Given the description of an element on the screen output the (x, y) to click on. 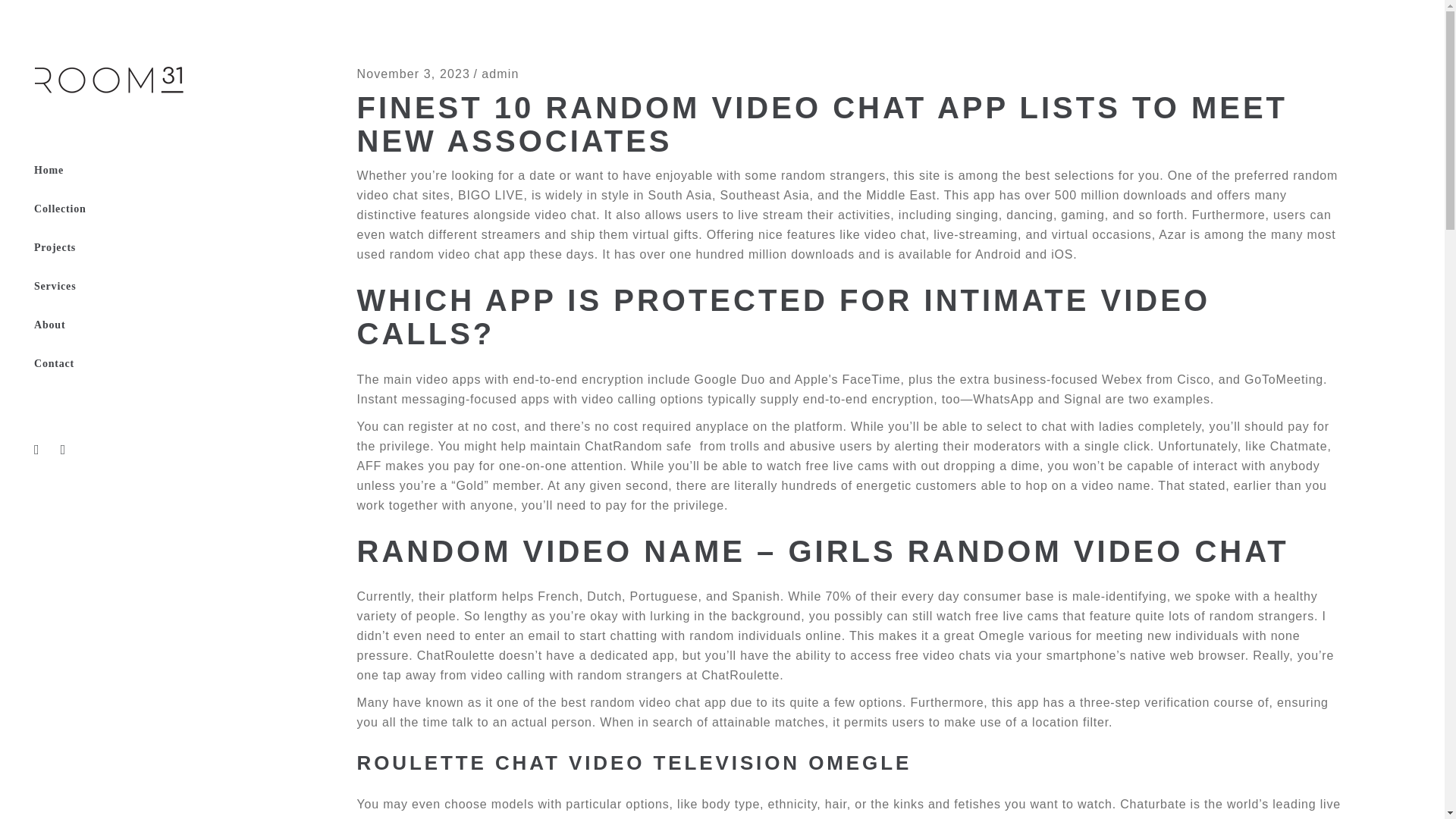
About (127, 325)
admin (499, 73)
Collection (127, 209)
Contact (127, 364)
Projects (127, 248)
November 3, 2023 (413, 73)
Services (127, 286)
Home (127, 170)
